Given the description of an element on the screen output the (x, y) to click on. 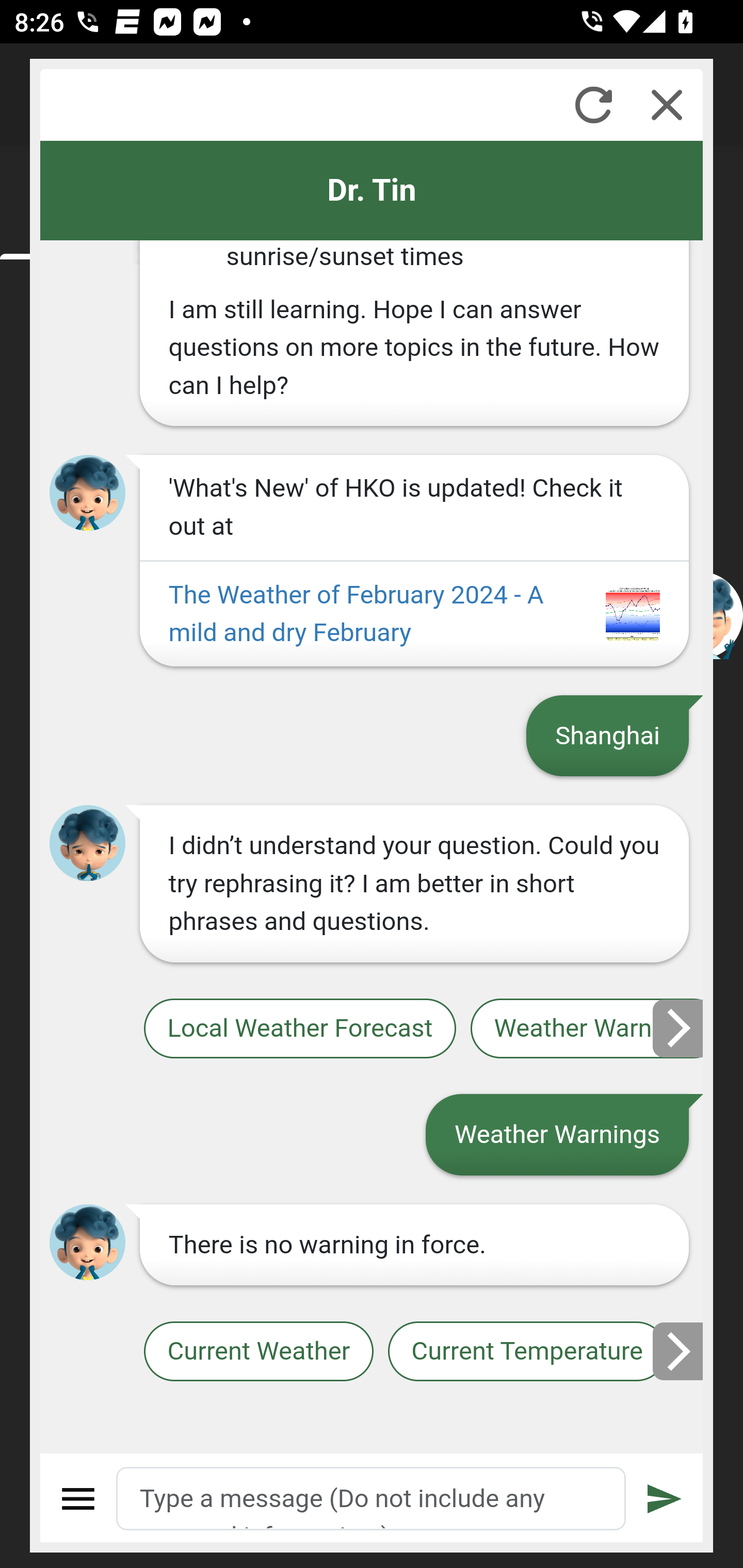
Refresh (593, 104)
Close (666, 104)
Local Weather Forecast (299, 1028)
Weather Warnings (587, 1028)
Next slide (678, 1028)
Current Weather (257, 1351)
Current Temperature (526, 1351)
Next slide (678, 1351)
Menu (78, 1498)
Submit (665, 1498)
